Given the description of an element on the screen output the (x, y) to click on. 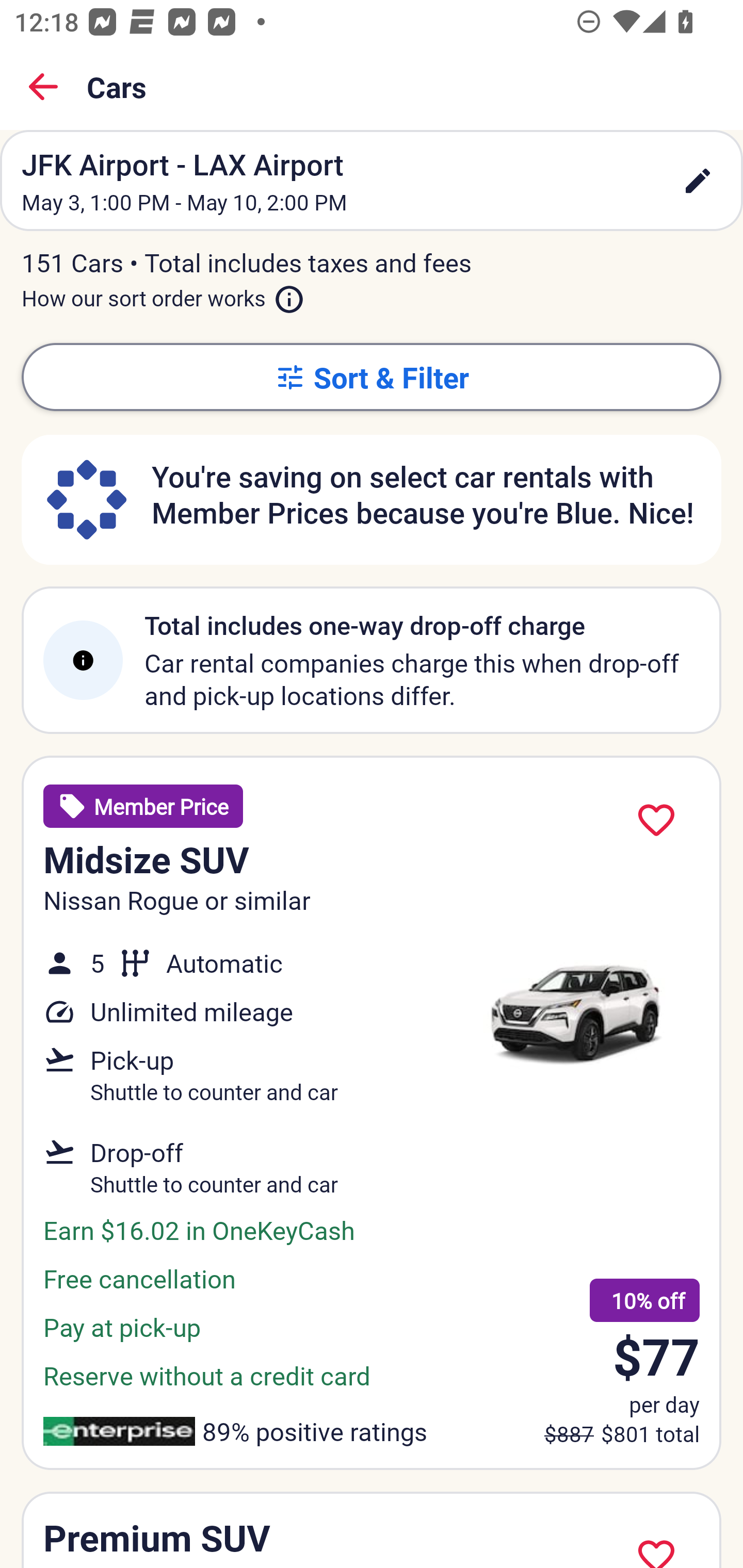
Back (43, 86)
edit (697, 180)
How our sort order works (163, 294)
Sort & Filter (371, 376)
